Given the description of an element on the screen output the (x, y) to click on. 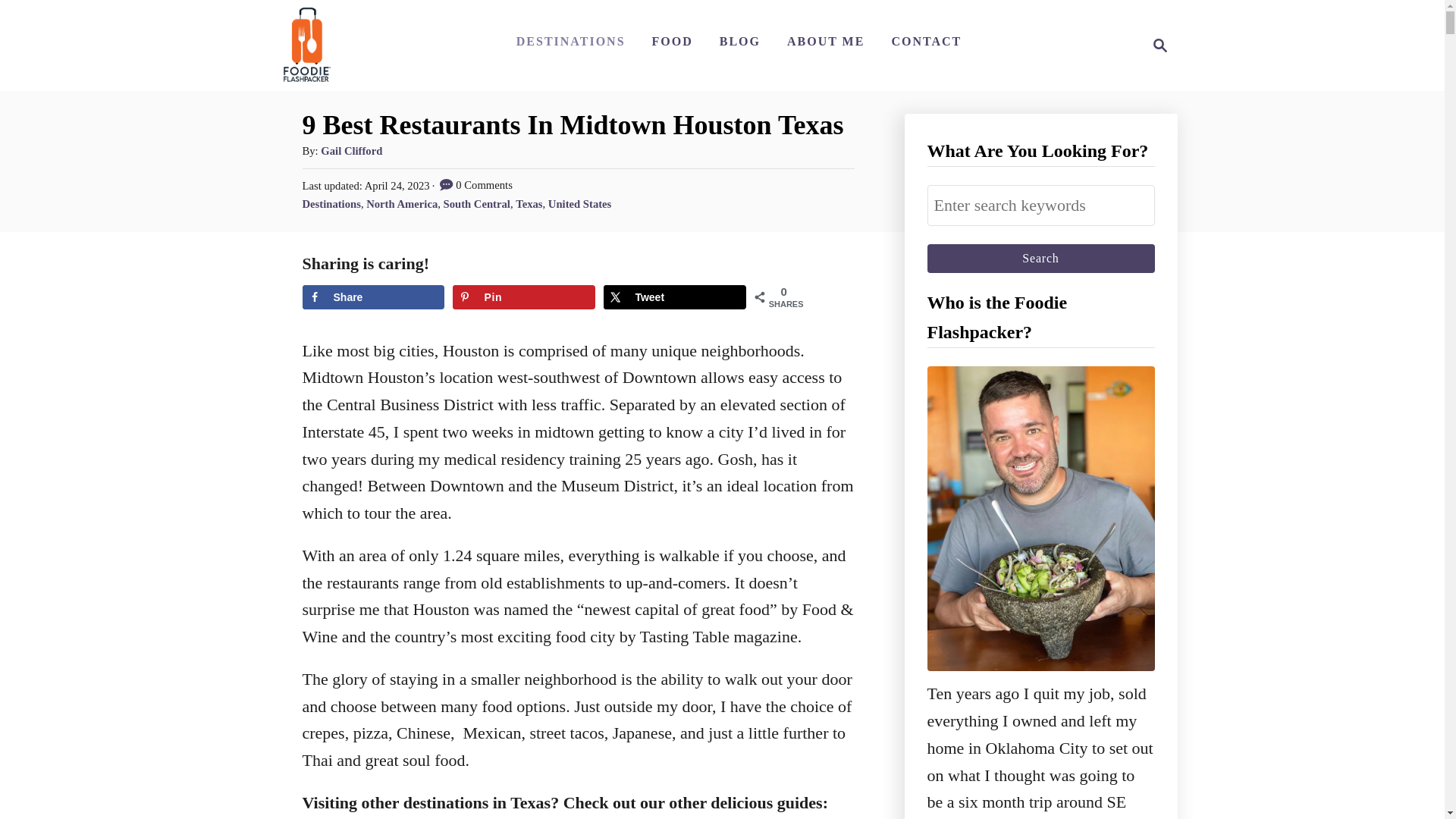
Foodie Flashpacker (306, 45)
Share on Facebook (372, 297)
Save to Pinterest (523, 297)
Search for: (1040, 205)
DESTINATIONS (570, 41)
Search (1040, 258)
Magnifying Glass (1160, 45)
Search (1040, 258)
Share on X (1155, 45)
